Given the description of an element on the screen output the (x, y) to click on. 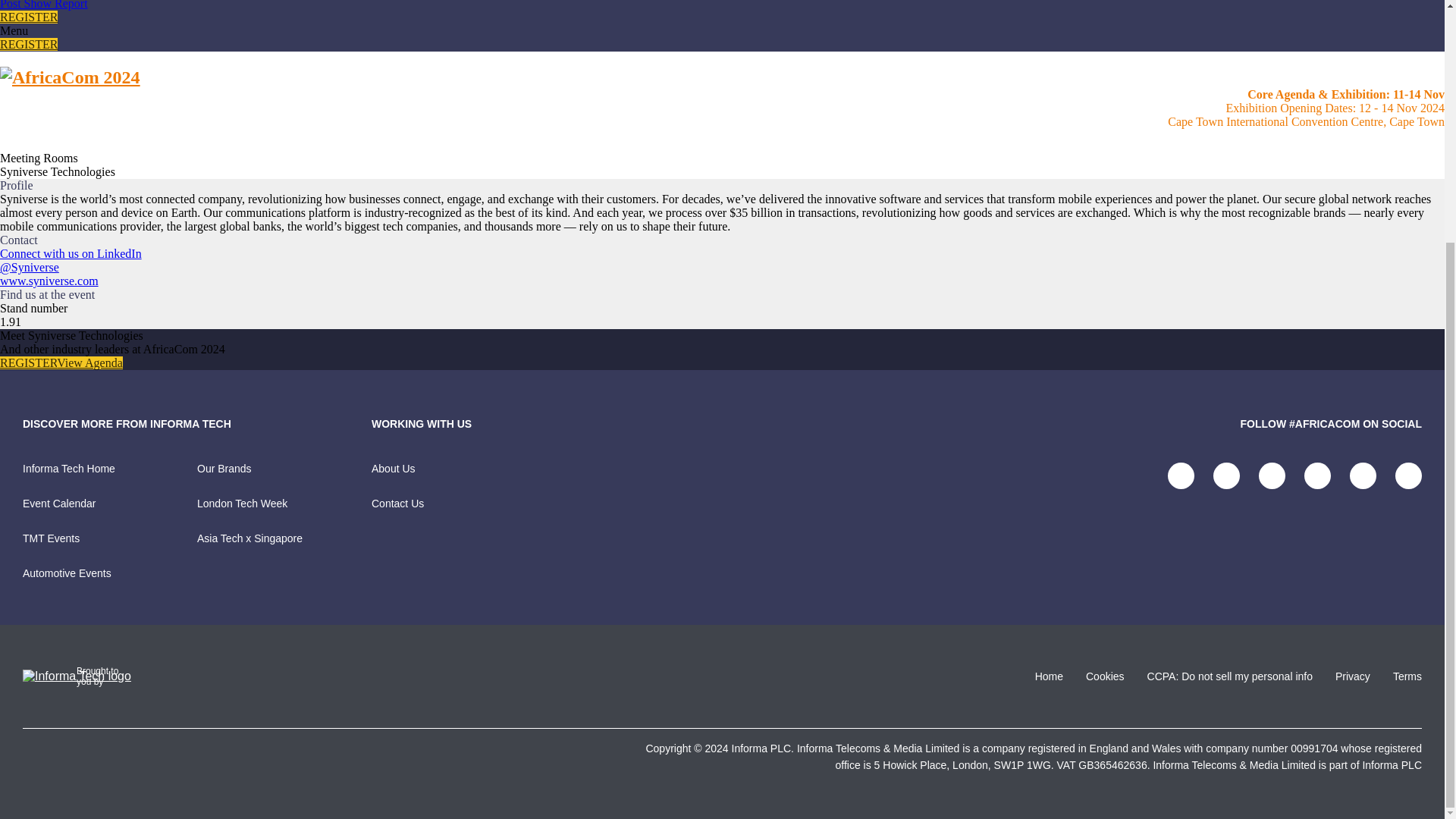
Automotive Events (109, 573)
REGISTER (28, 362)
Post Show Report (43, 4)
Connect with us on LinkedIn (70, 253)
TMT Events (109, 549)
Event Calendar (109, 514)
Our Brands (283, 479)
REGISTER (29, 43)
View Agenda (89, 362)
Asia Tech x Singapore (283, 538)
